Given the description of an element on the screen output the (x, y) to click on. 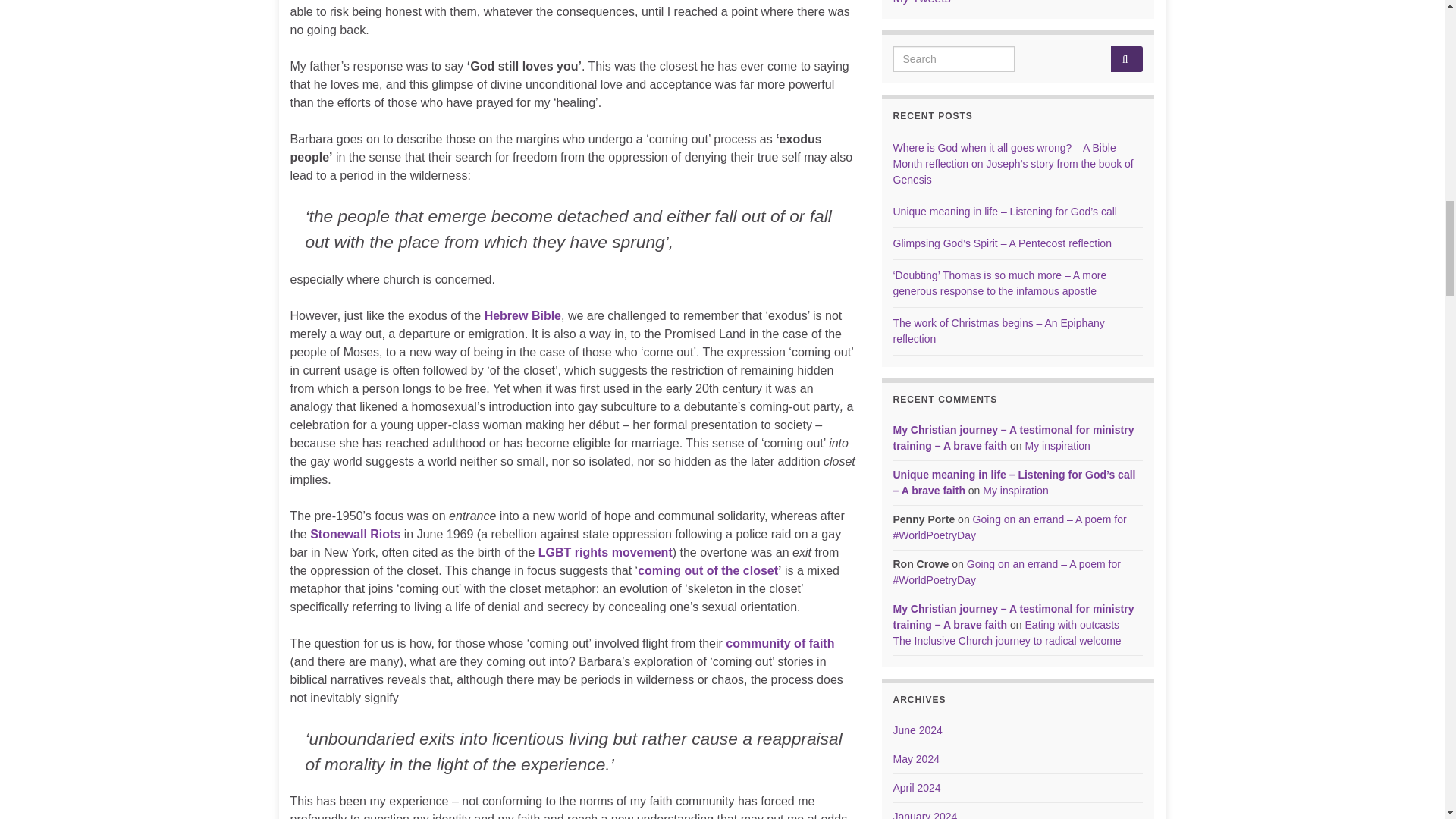
LGBT rights movement (605, 552)
community of faith (779, 643)
Hebrew Bible (522, 315)
Stonewall Riots (355, 533)
coming out of the closet (707, 570)
